Given the description of an element on the screen output the (x, y) to click on. 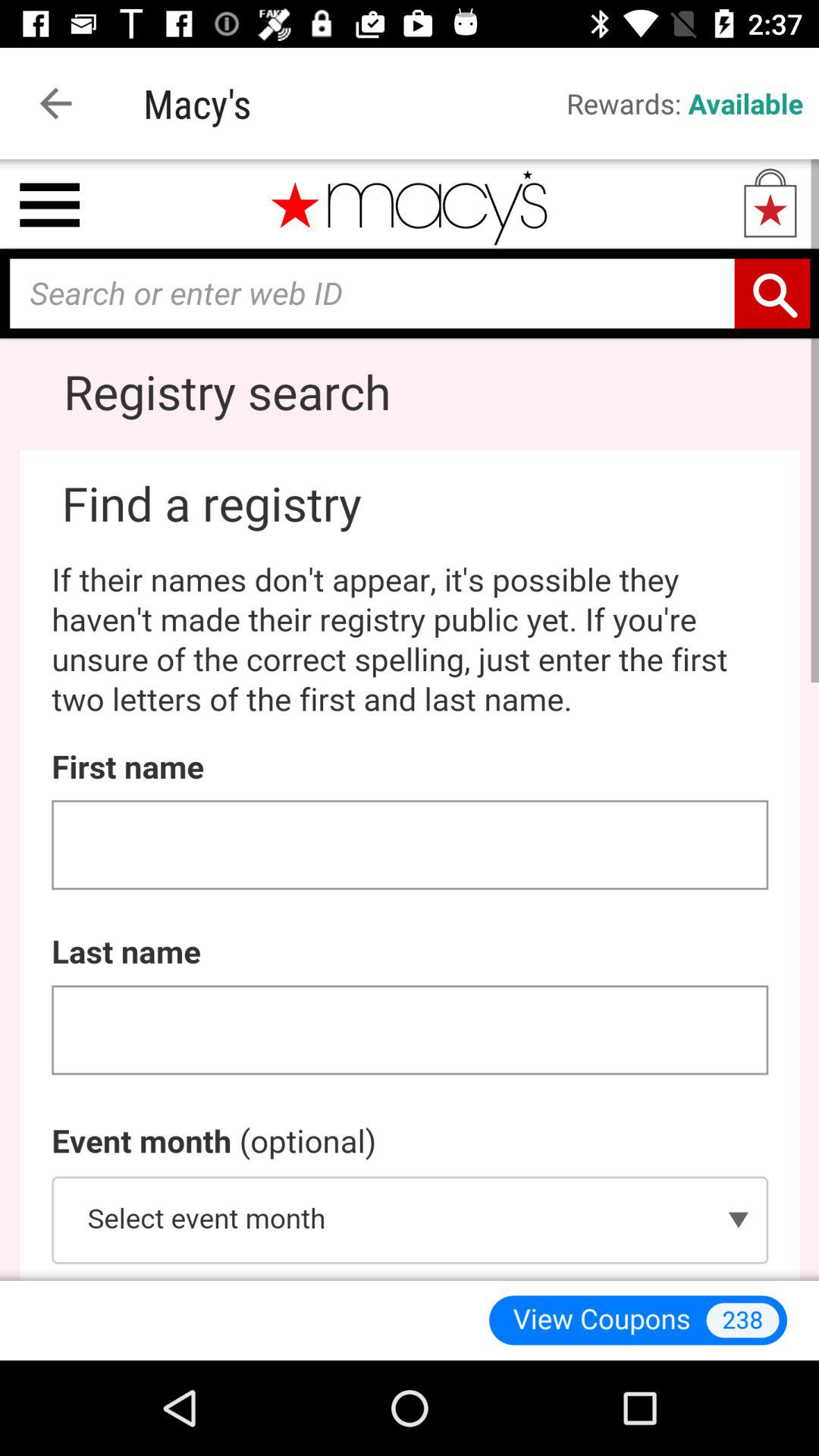
text the box (409, 719)
